Given the description of an element on the screen output the (x, y) to click on. 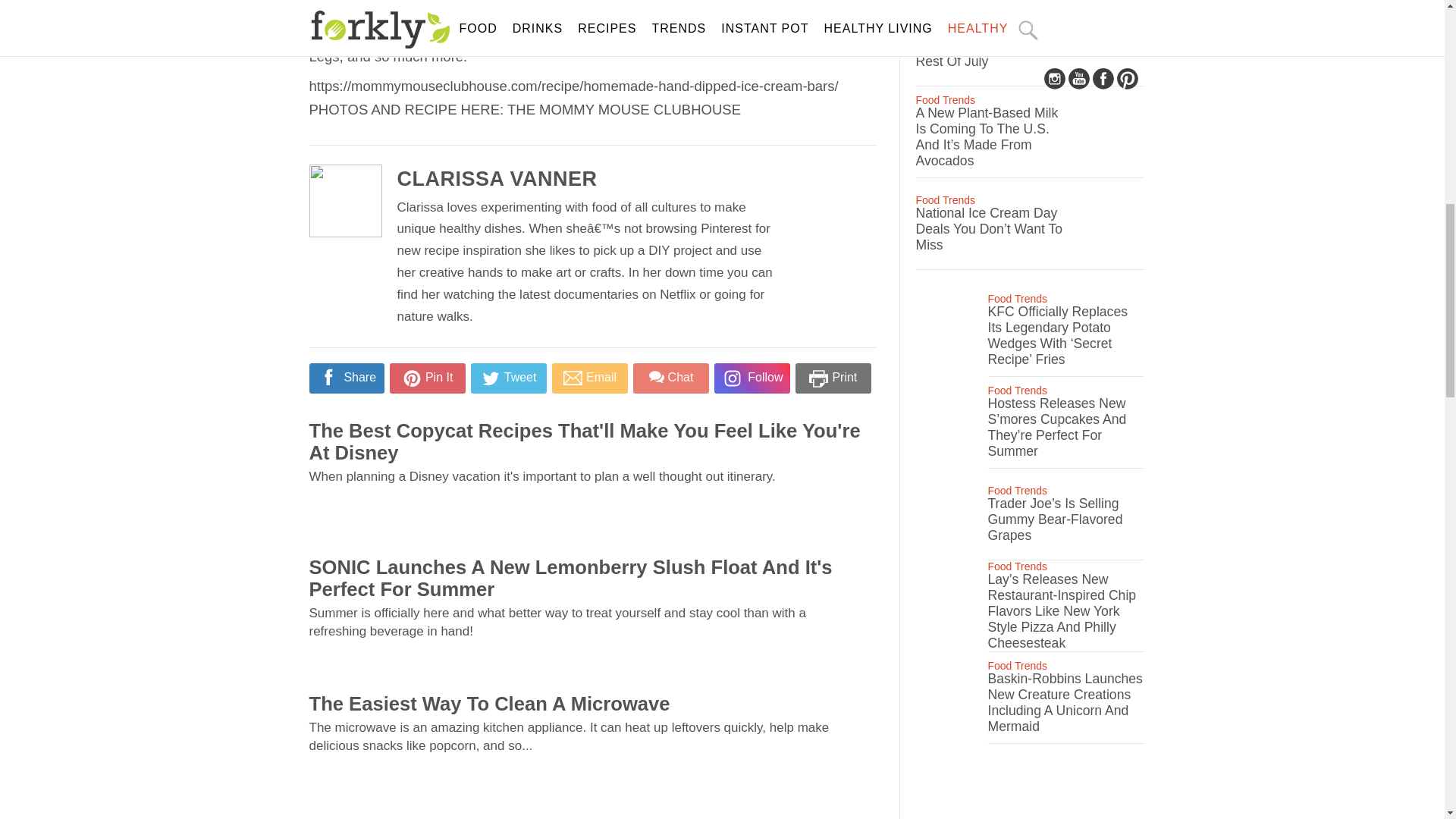
Share (346, 377)
Tweet (508, 378)
Share by Email (589, 378)
Pin It (427, 378)
